Given the description of an element on the screen output the (x, y) to click on. 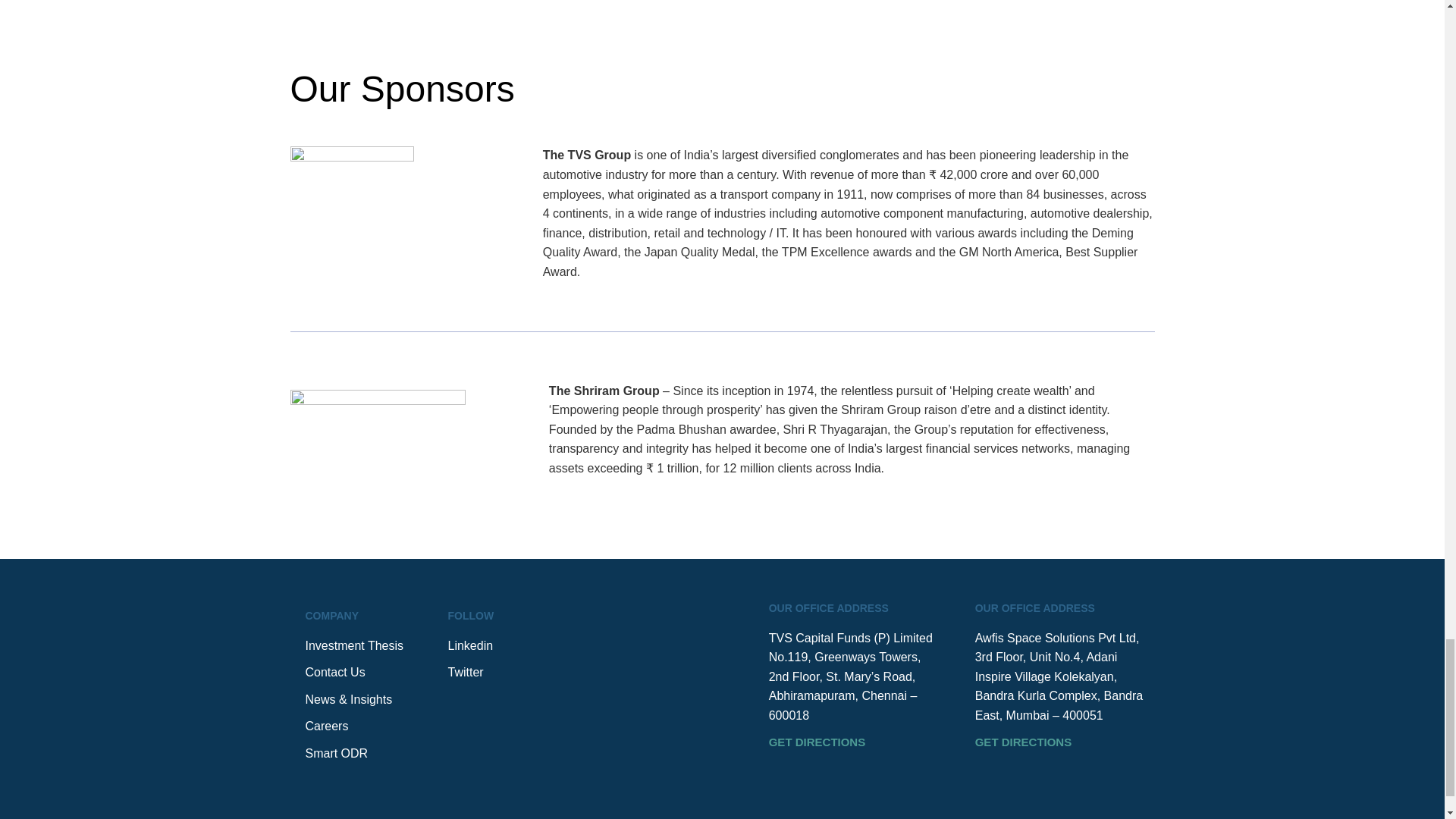
Careers (360, 726)
Investment Thesis (360, 646)
Linkedin (471, 646)
GET DIRECTIONS (817, 741)
GET DIRECTIONS (1023, 741)
Contact Us (360, 672)
Smart ODR (360, 753)
Twitter (471, 672)
